Given the description of an element on the screen output the (x, y) to click on. 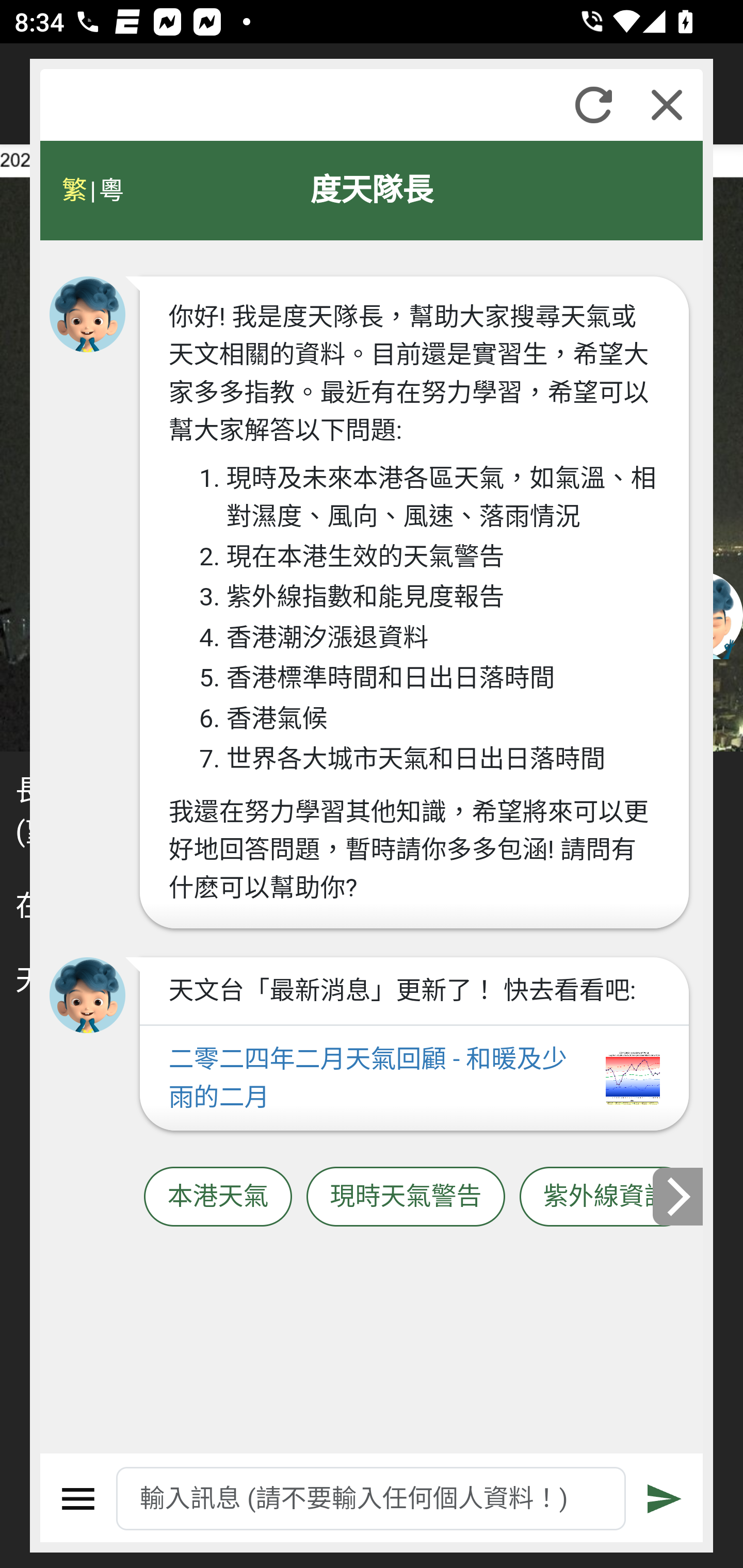
重新整理 (593, 104)
關閉 (666, 104)
繁 (73, 190)
粵 (110, 190)
二零二四年二月天氣回顧 - 和暖及少雨的二月 (413, 1078)
本港天氣 (217, 1196)
現時天氣警告 (405, 1196)
紫外線資訊 (605, 1196)
下一張 (678, 1196)
選單 (78, 1498)
遞交 (665, 1498)
